Given the description of an element on the screen output the (x, y) to click on. 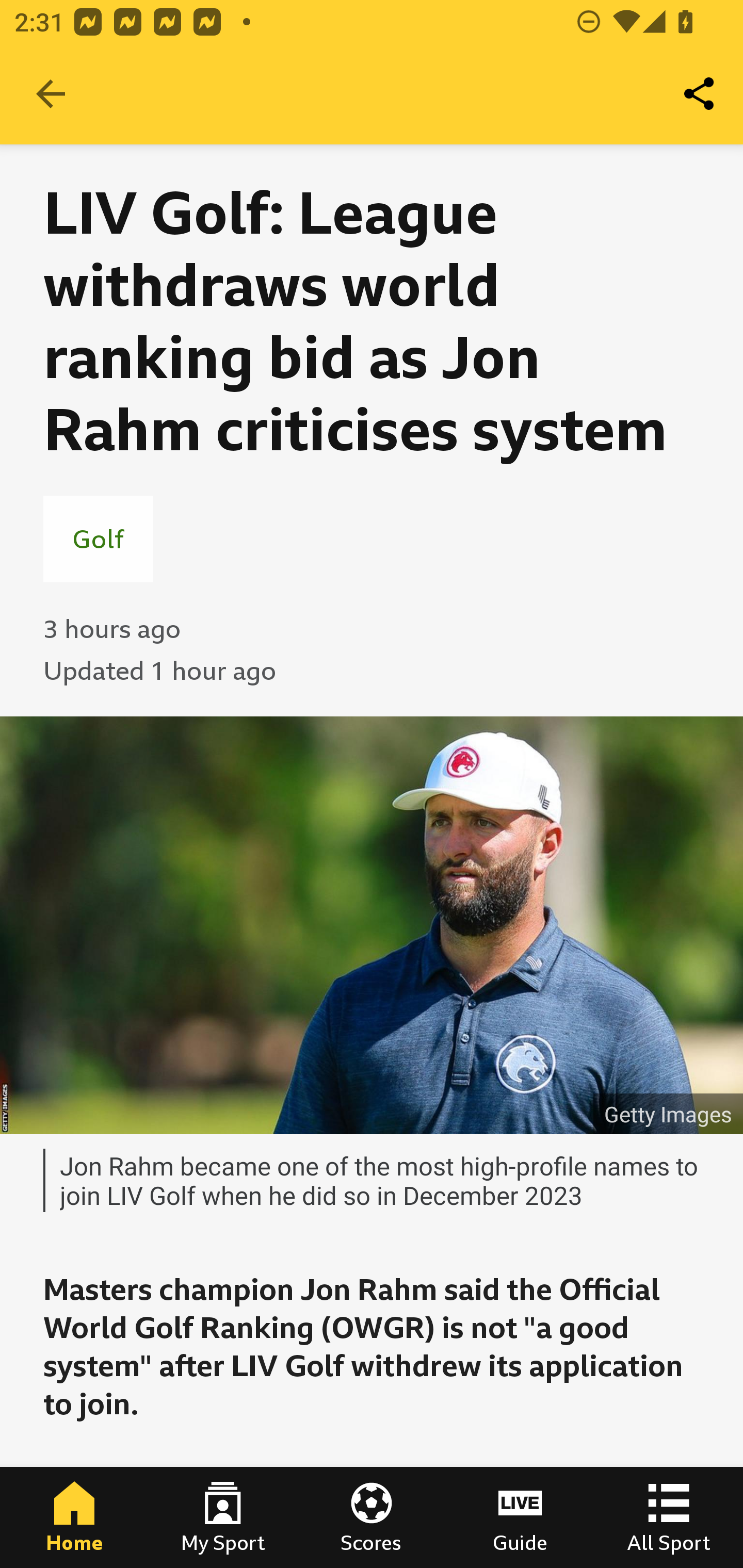
Navigate up (50, 93)
Share (699, 93)
Golf (98, 538)
My Sport (222, 1517)
Scores (371, 1517)
Guide (519, 1517)
All Sport (668, 1517)
